Given the description of an element on the screen output the (x, y) to click on. 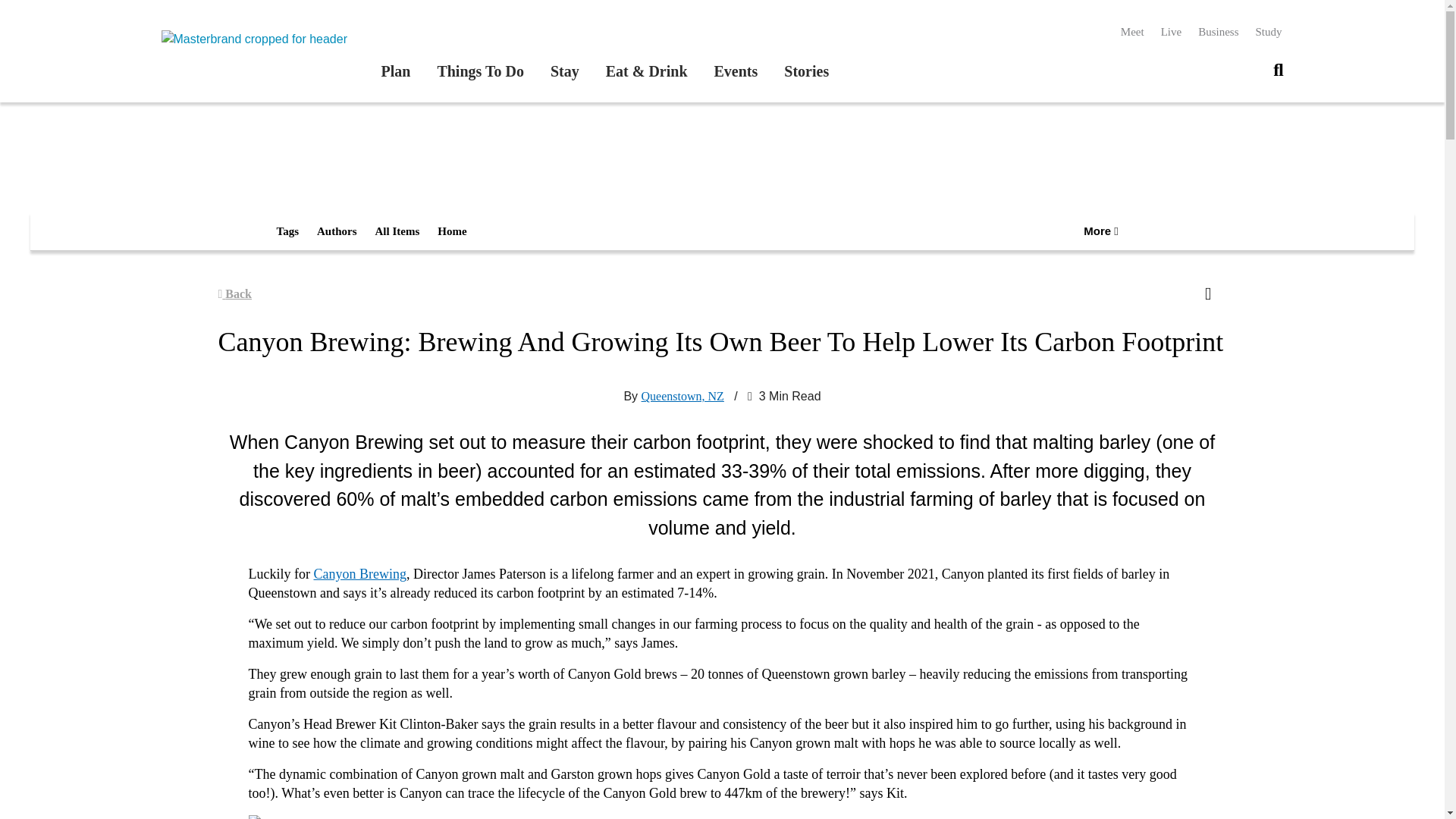
Meet (1132, 31)
Study (1268, 31)
Plan (395, 70)
Business (1218, 31)
Live (1171, 31)
